Given the description of an element on the screen output the (x, y) to click on. 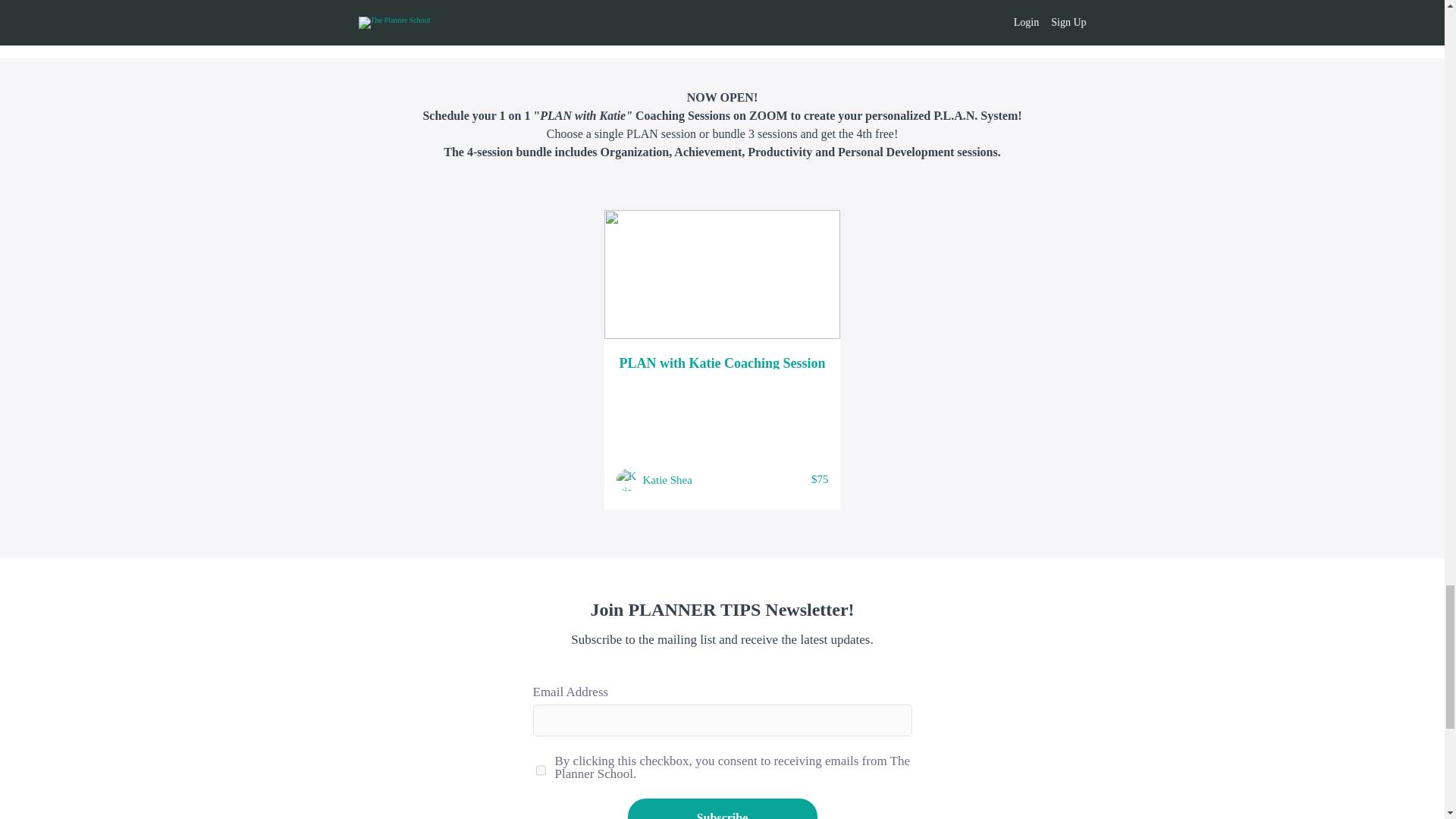
on (539, 769)
Katie Shea (668, 479)
PLAN with Katie Coaching Session (721, 363)
Subscribe (721, 808)
